Given the description of an element on the screen output the (x, y) to click on. 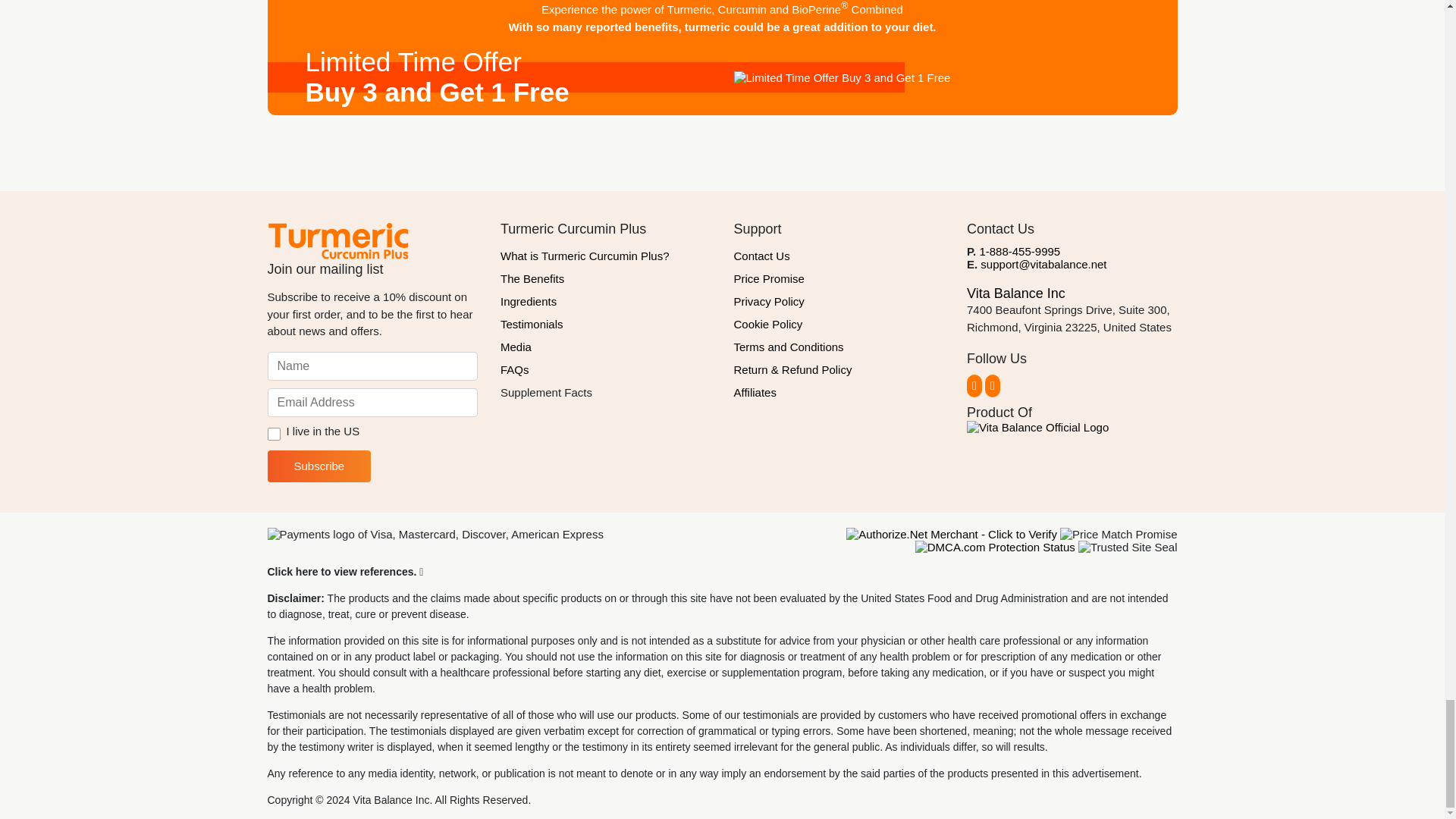
Turmeric Curcumin Plus Official Logo (336, 240)
Cookie Policy (838, 323)
What is Turmeric Curcumin Plus? (605, 255)
Vita Balance Official Logo (1037, 427)
Testimonials (605, 323)
Media (605, 346)
Terms and Conditions (838, 346)
Privacy Policy (838, 301)
The Benefits (605, 278)
Affiliates (838, 392)
FAQs (605, 369)
Vita Balance Inc (1015, 293)
Price Promise (838, 278)
Contact Us (838, 255)
DMCA.com Protection Status (995, 546)
